Given the description of an element on the screen output the (x, y) to click on. 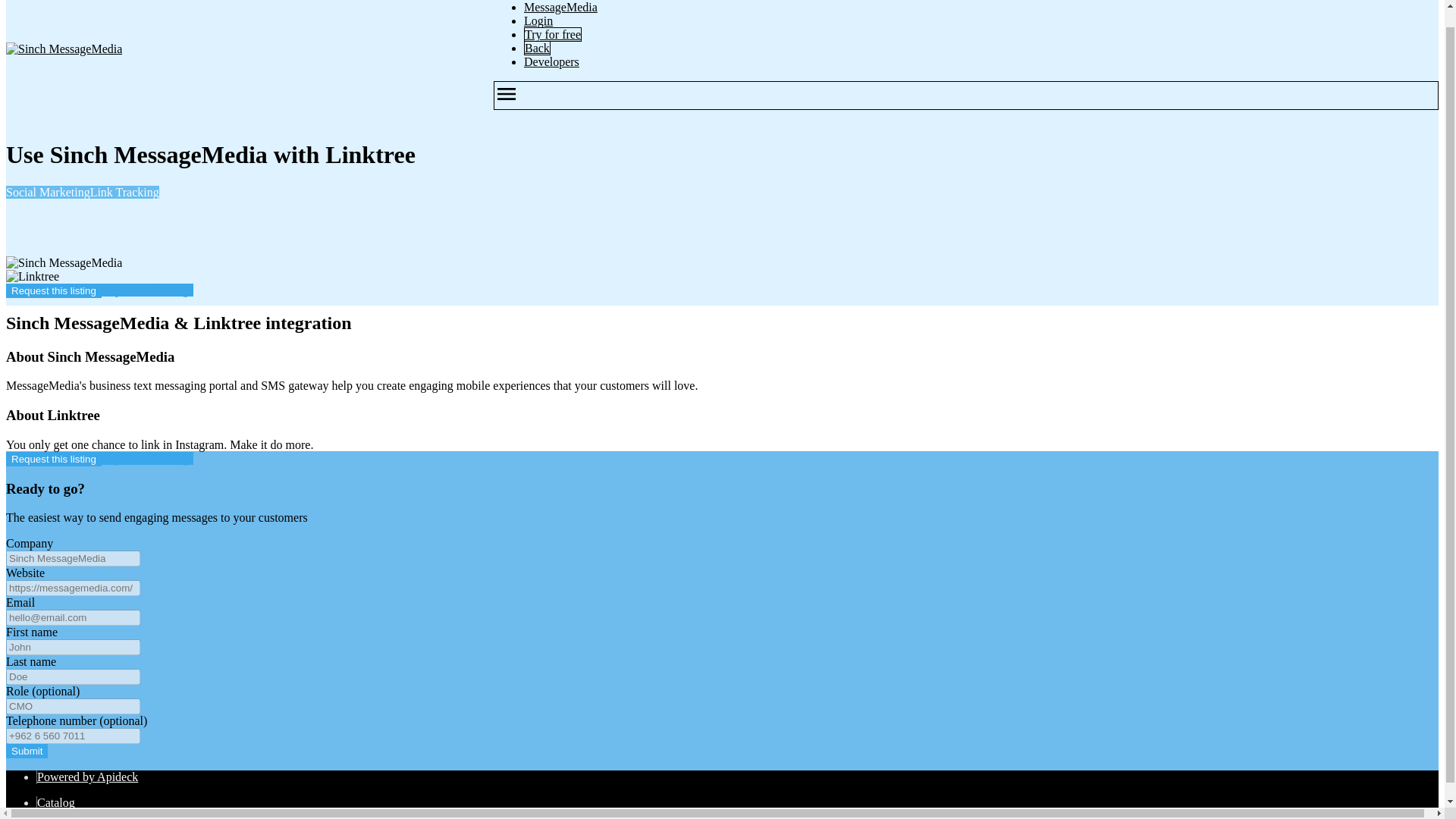
MessageMedia (560, 6)
Try for free (552, 34)
Login (538, 20)
Catalog (56, 802)
Request this listing (53, 459)
Submit (26, 750)
Back (537, 47)
Powered by Apideck (87, 776)
Request this listing (53, 290)
Sinch MessageMedia (63, 263)
Developers (551, 61)
Sinch MessageMedia (63, 49)
Linktree (32, 276)
Explore all listings (147, 289)
Explore all listings (147, 458)
